Given the description of an element on the screen output the (x, y) to click on. 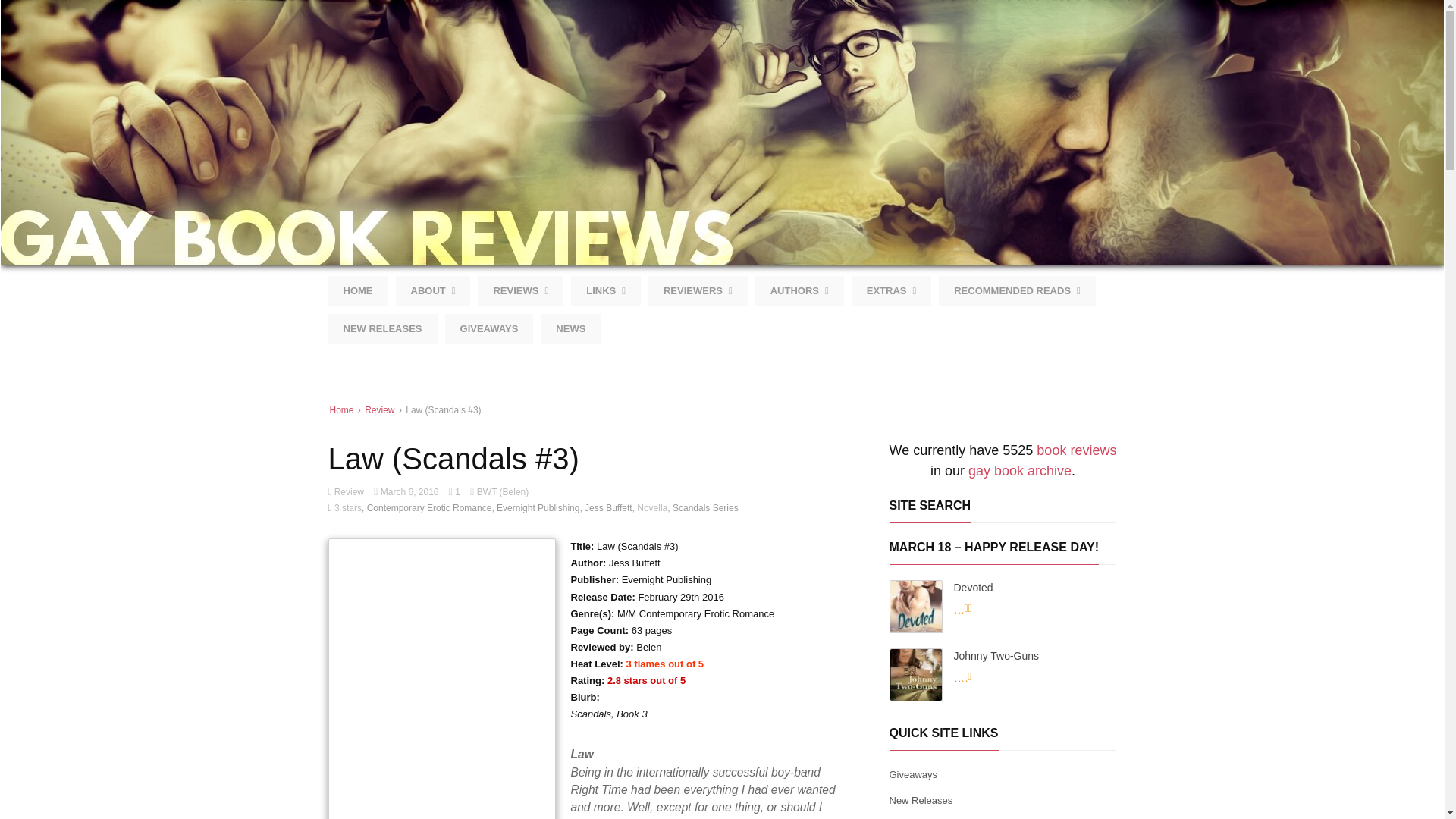
LINKS (605, 291)
3.50 (998, 608)
EXTRAS (891, 291)
4.00 (998, 677)
REVIEWS (520, 291)
REVIEWERS (697, 291)
ABOUT (433, 291)
AUTHORS (799, 291)
HOME (357, 291)
